Given the description of an element on the screen output the (x, y) to click on. 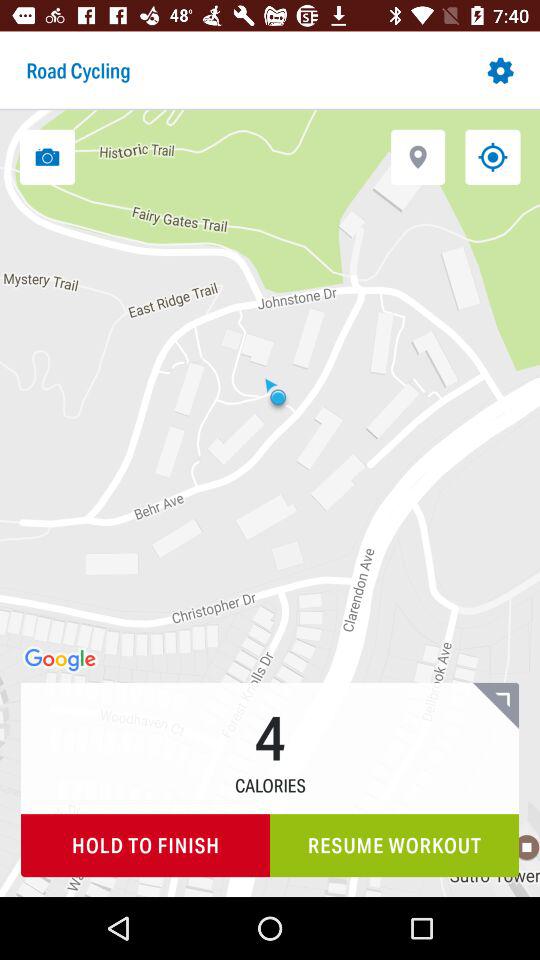
open resume workout (394, 845)
